Given the description of an element on the screen output the (x, y) to click on. 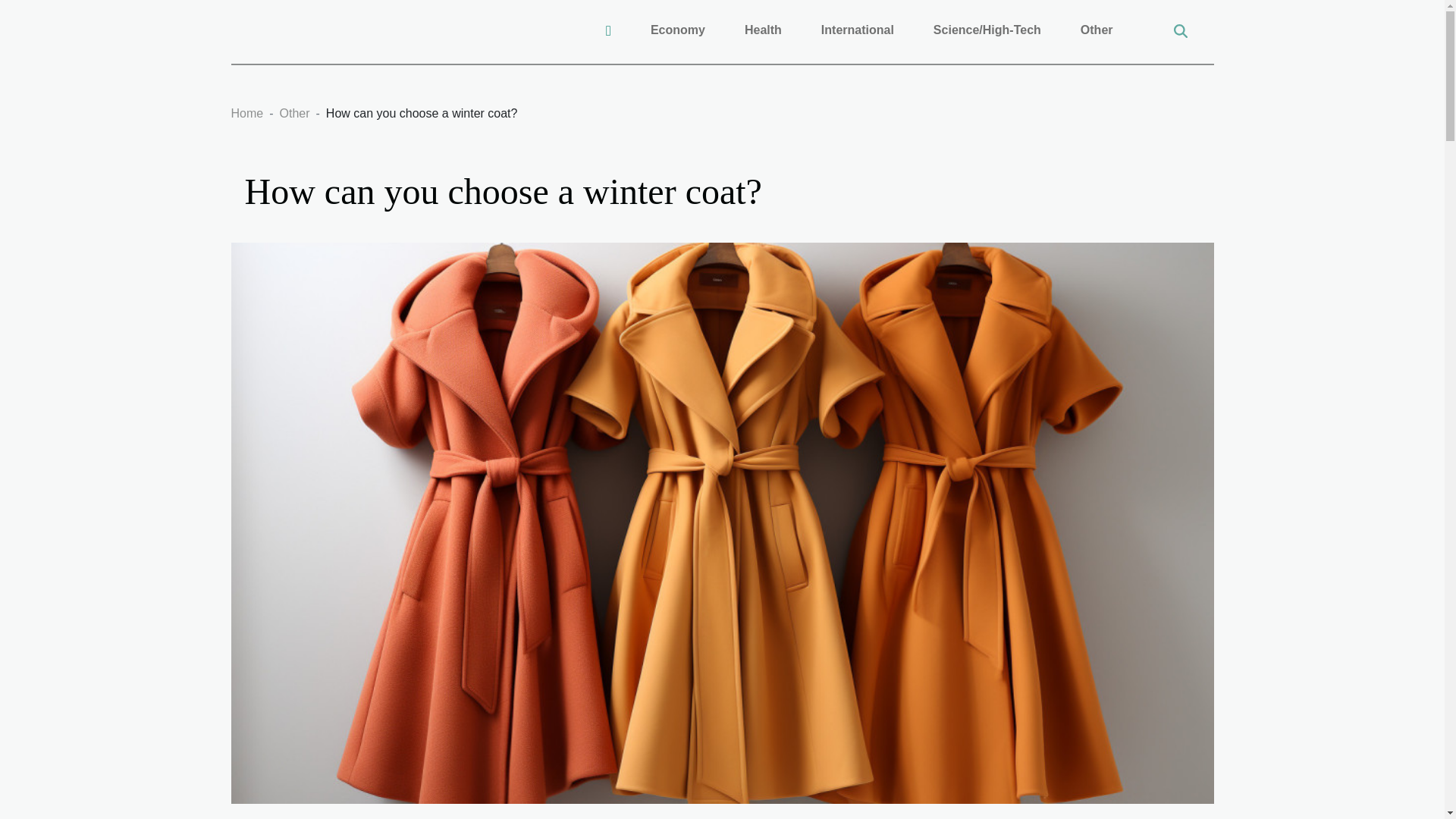
Home (246, 113)
International (857, 30)
Economy (678, 30)
Other (1096, 30)
Other (294, 113)
Health (762, 30)
Other (294, 113)
